Given the description of an element on the screen output the (x, y) to click on. 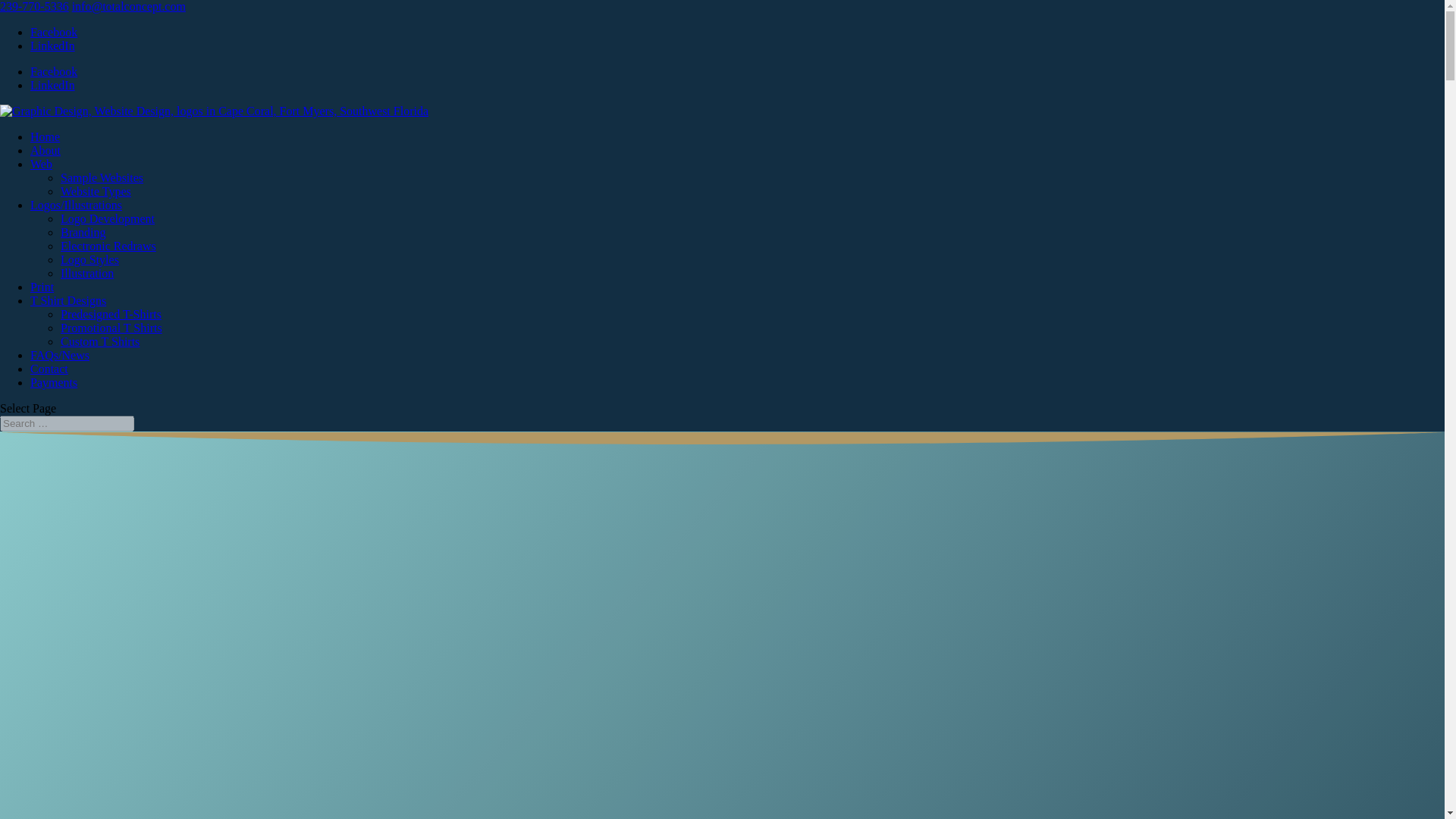
Search for: (66, 423)
239-770-5336 (34, 6)
LinkedIn (52, 45)
Electronic Redraws (108, 245)
Facebook (53, 71)
Website Types (96, 191)
Promotional T Shirts (111, 327)
Predesigned T-Shirts (111, 314)
T Shirt Designs (68, 300)
Home (44, 136)
Print (41, 286)
Facebook (53, 31)
LinkedIn (52, 84)
Payments (53, 382)
Contact (49, 368)
